Given the description of an element on the screen output the (x, y) to click on. 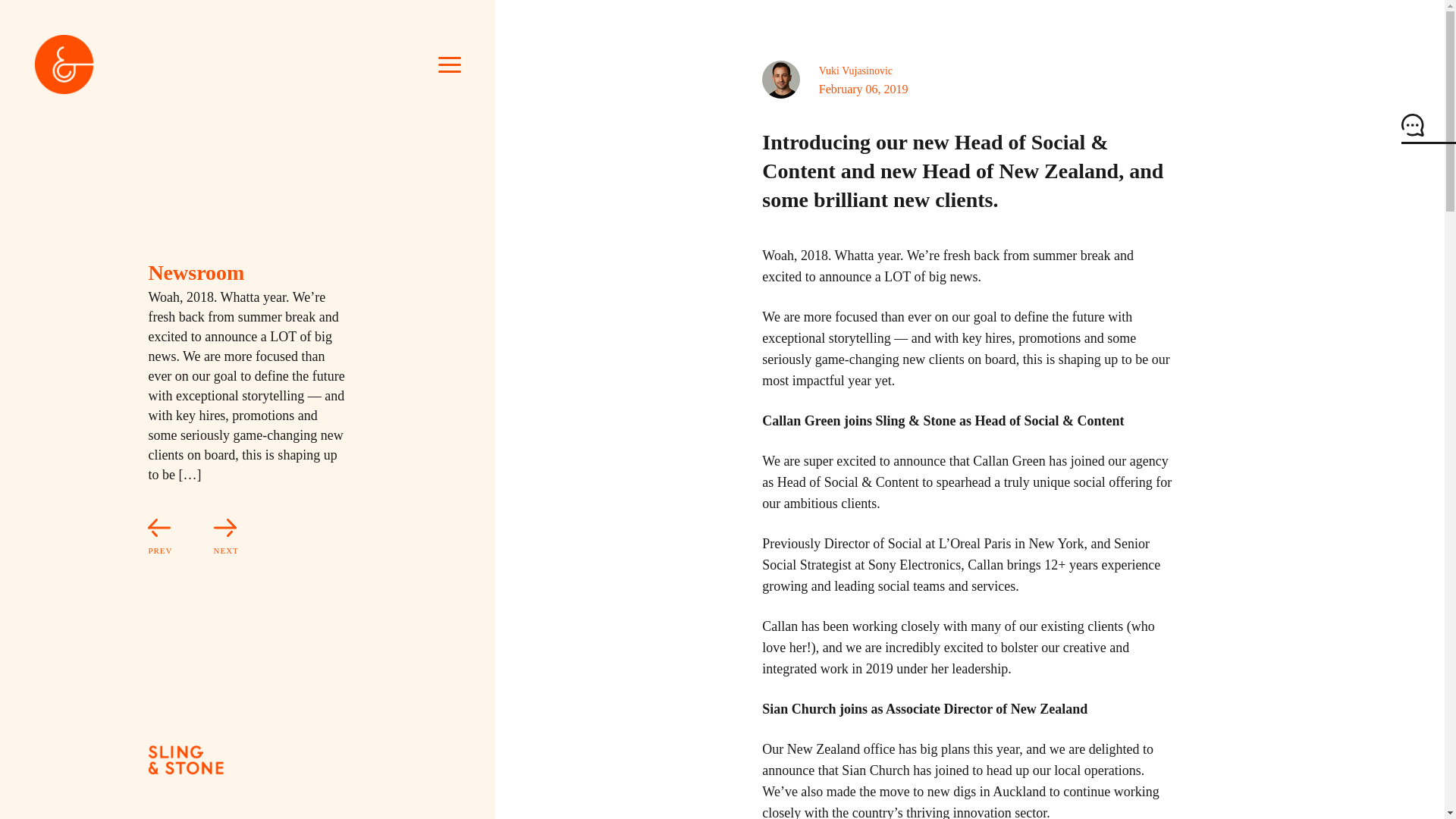
NEXT (207, 539)
